Given the description of an element on the screen output the (x, y) to click on. 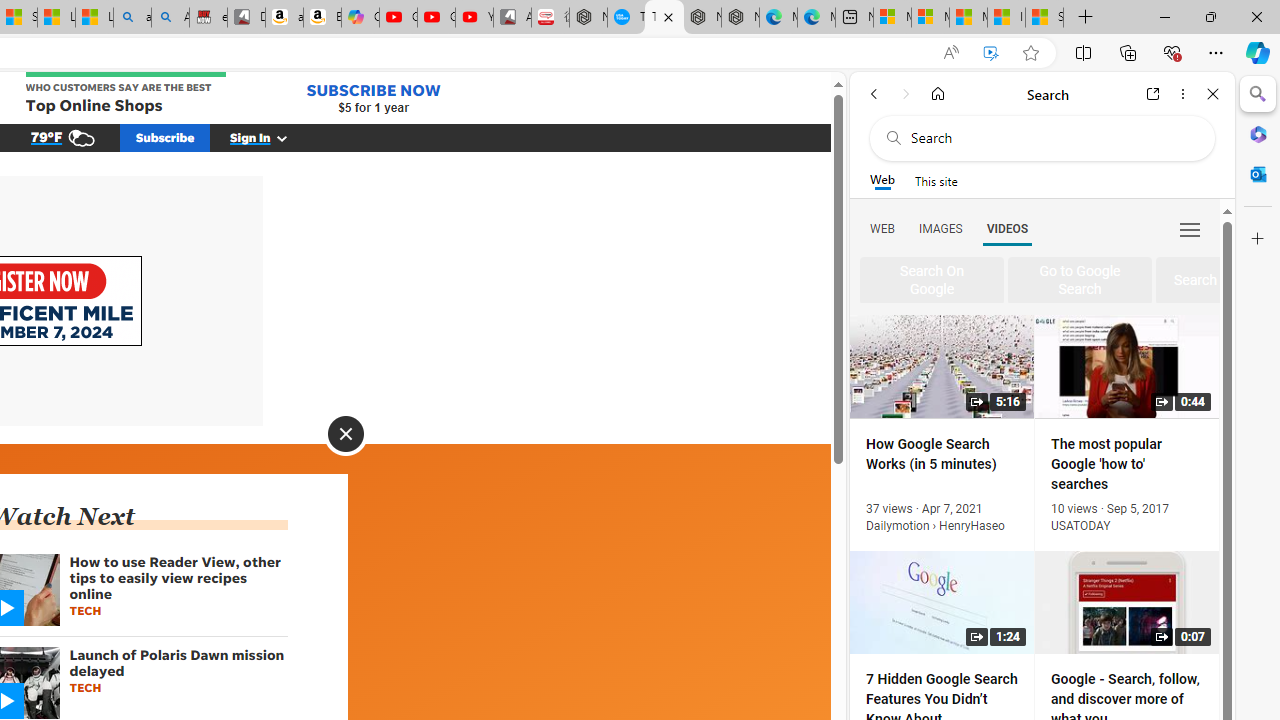
Forward (906, 93)
Search Filter, IMAGES (939, 228)
